Given the description of an element on the screen output the (x, y) to click on. 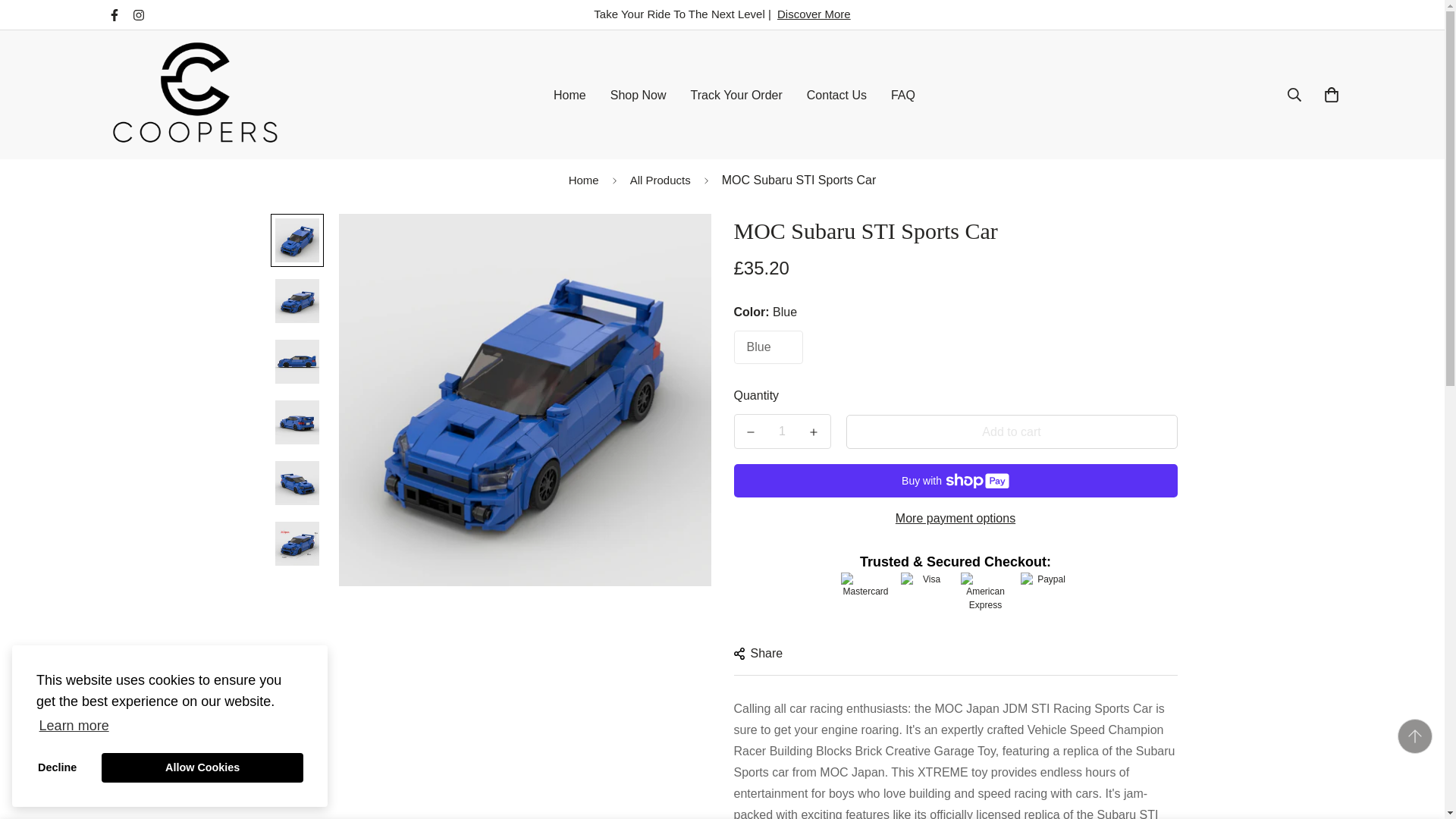
Home (569, 94)
FAQ (903, 94)
Discover More (813, 13)
Coopers (194, 94)
Back to the home page (583, 180)
Decline (57, 767)
Allow Cookies (201, 767)
Shop Now (638, 94)
Track Your Order (736, 94)
All Products (660, 180)
Contact Us (836, 94)
1 (782, 430)
Home (583, 180)
